Given the description of an element on the screen output the (x, y) to click on. 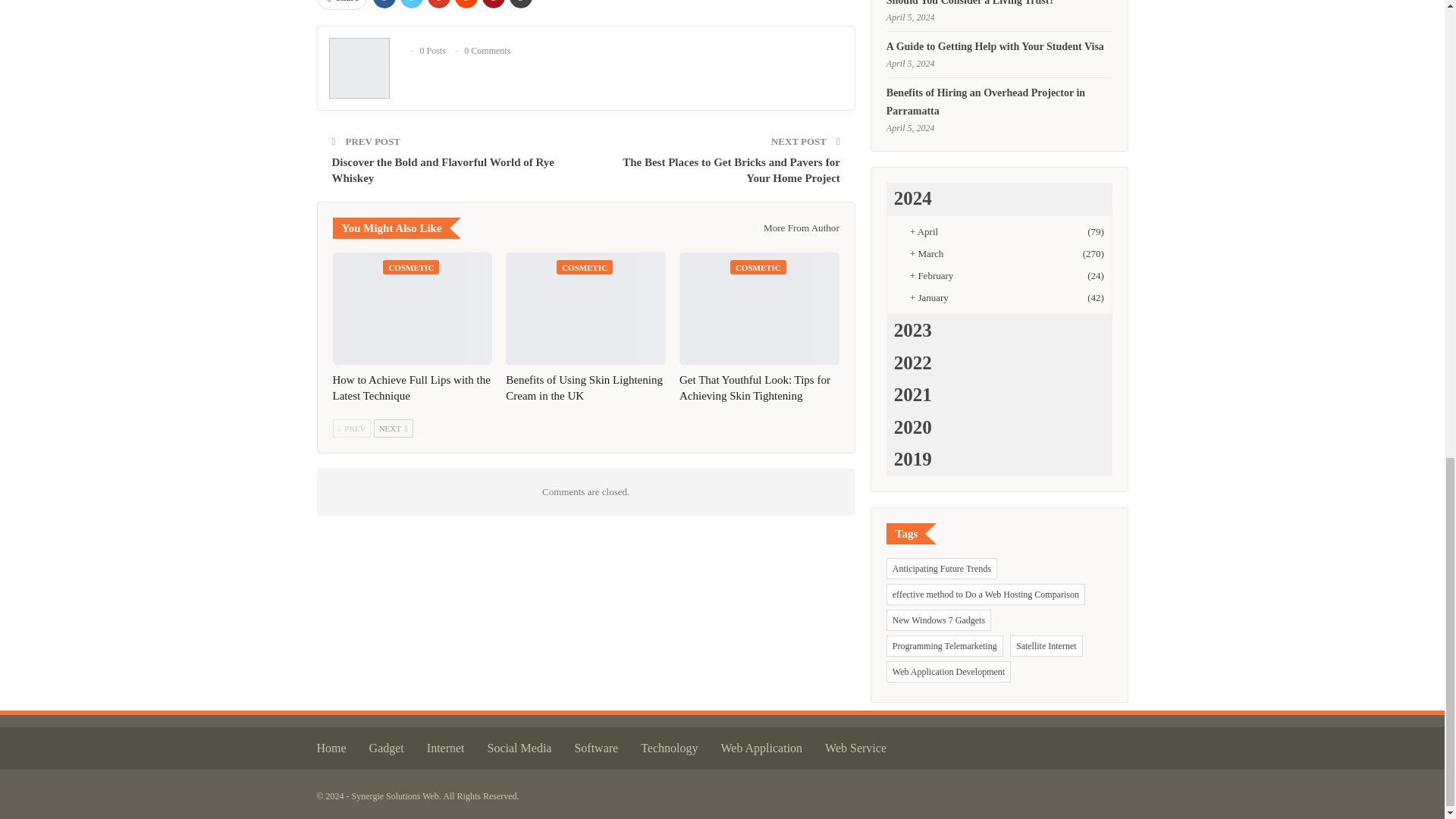
How to Achieve Full Lips with the Latest Technique (410, 387)
Get That Youthful Look: Tips for Achieving Skin Tightening (759, 308)
Benefits of Using Skin Lightening Cream in the UK (585, 308)
How to Achieve Full Lips with the Latest Technique (411, 308)
Previous (351, 428)
Next (393, 428)
Benefits of Using Skin Lightening Cream in the UK (583, 387)
Get That Youthful Look: Tips for Achieving Skin Tightening (754, 387)
